Given the description of an element on the screen output the (x, y) to click on. 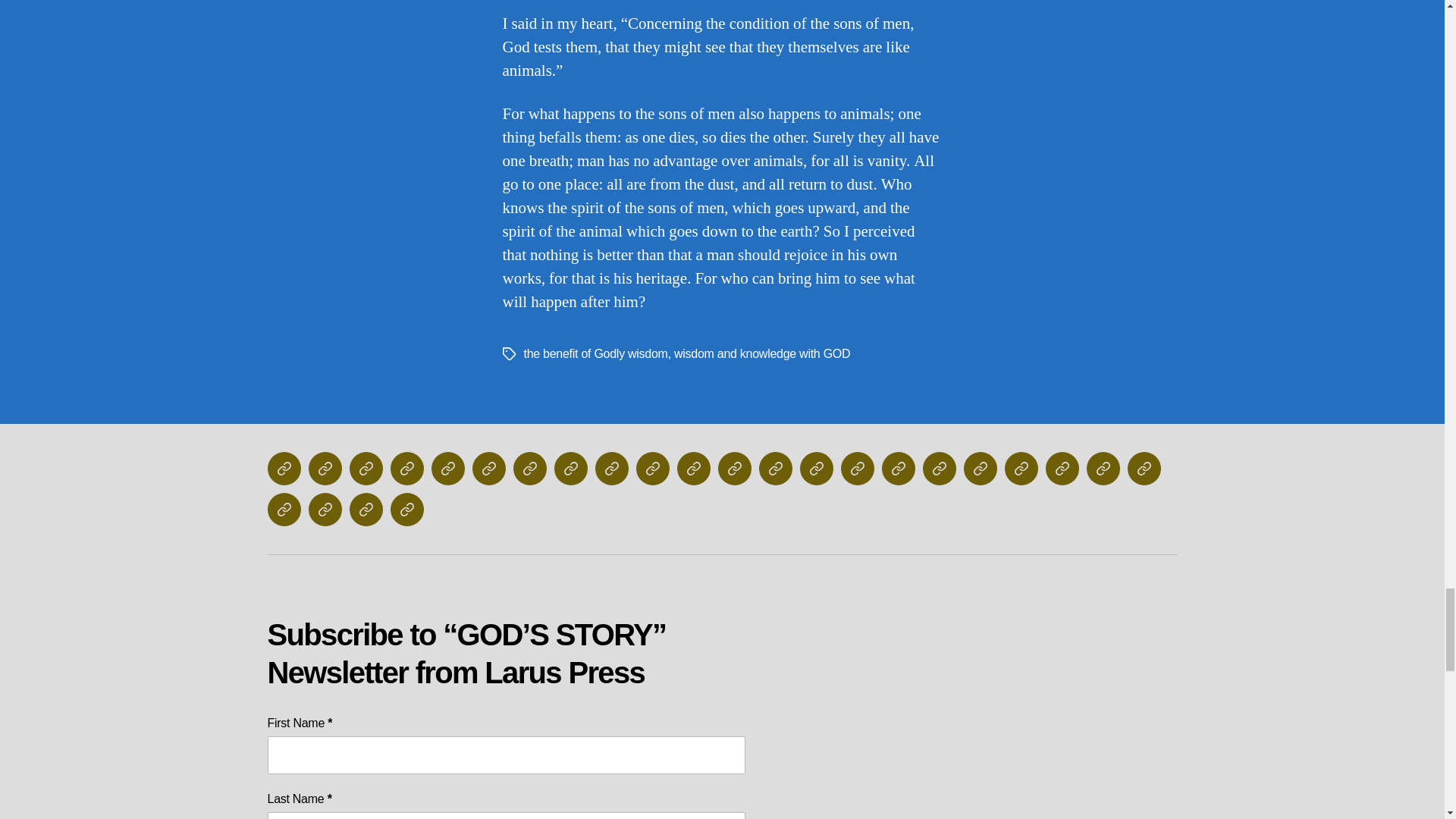
Last Name (505, 815)
First Name (505, 754)
